Given the description of an element on the screen output the (x, y) to click on. 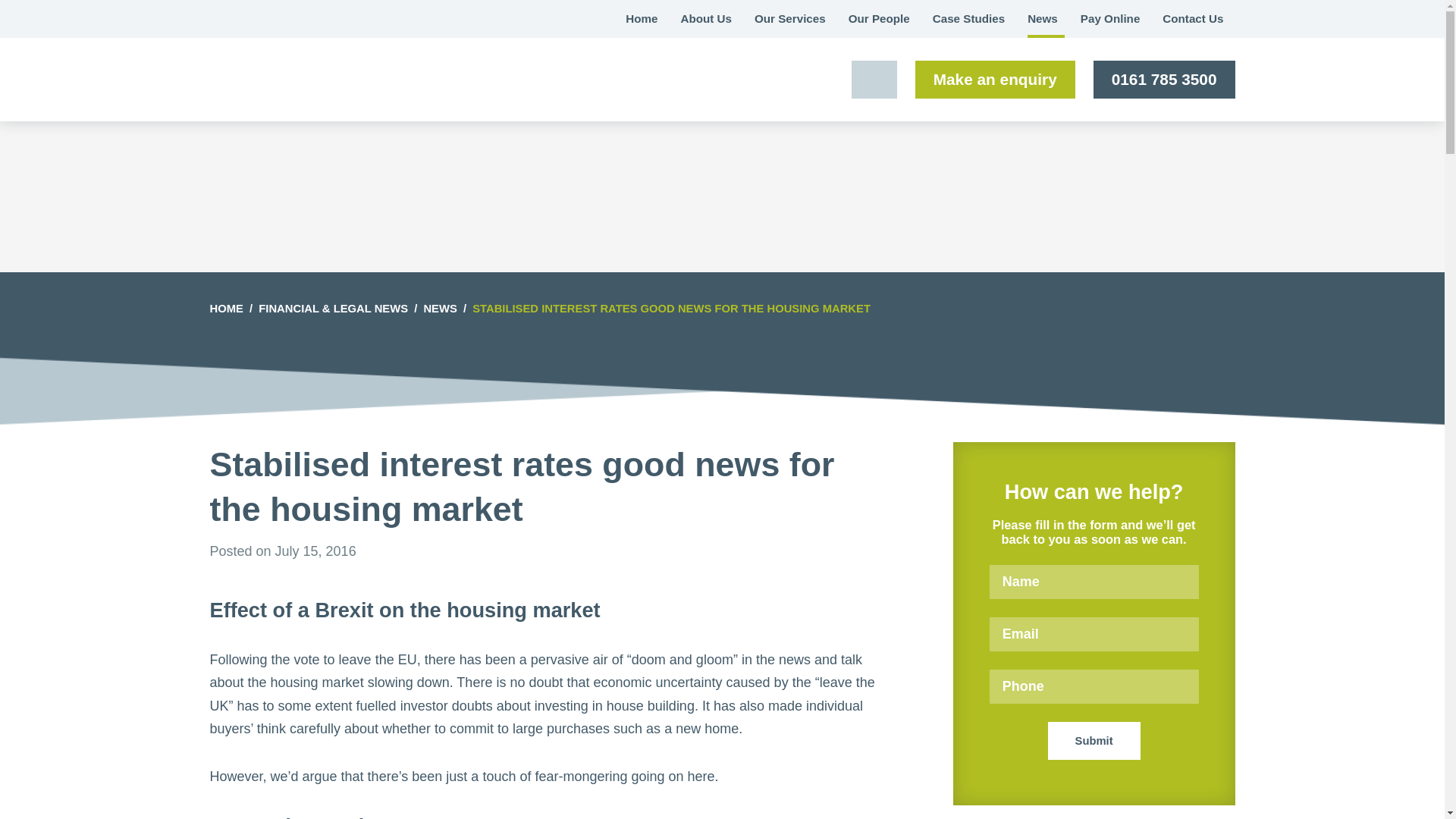
Our People (879, 18)
Home (641, 18)
About Us (705, 18)
Our Services (789, 18)
Submit (1094, 740)
Case Studies (968, 18)
